Given the description of an element on the screen output the (x, y) to click on. 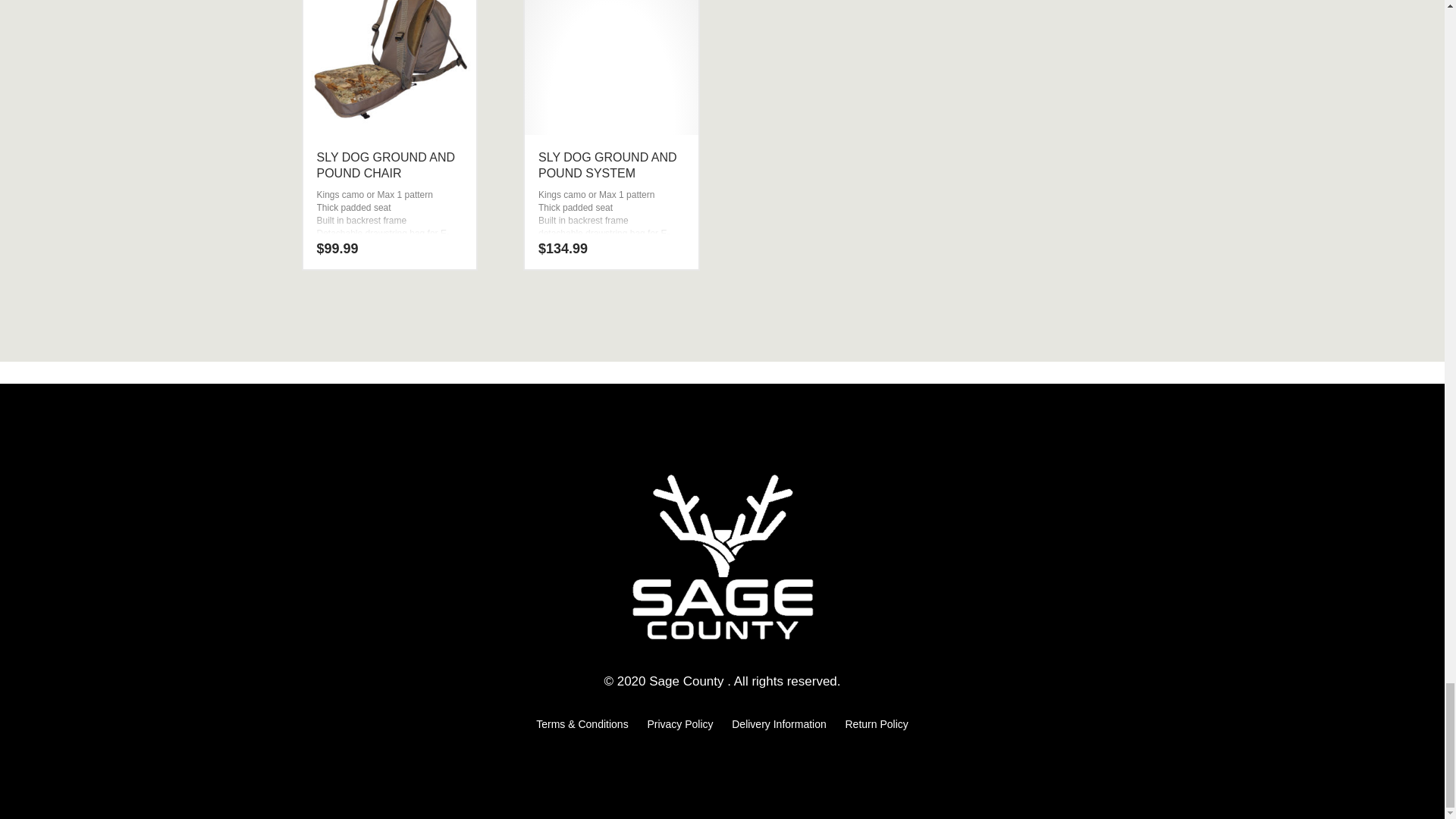
Privacy Policy (679, 724)
Return Policy (875, 724)
Delivery Information (779, 724)
